Given the description of an element on the screen output the (x, y) to click on. 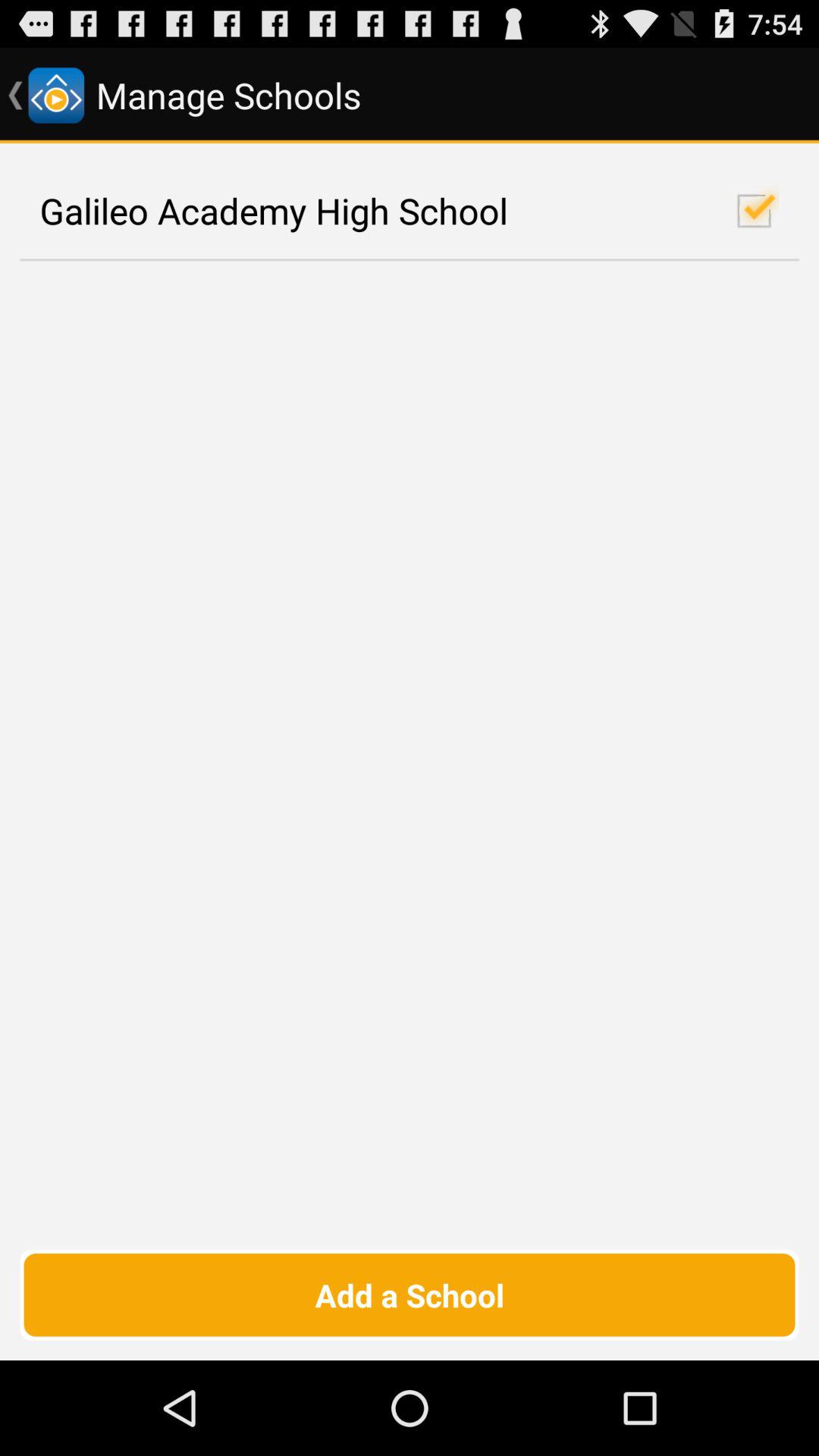
jump to add a school (409, 1294)
